Given the description of an element on the screen output the (x, y) to click on. 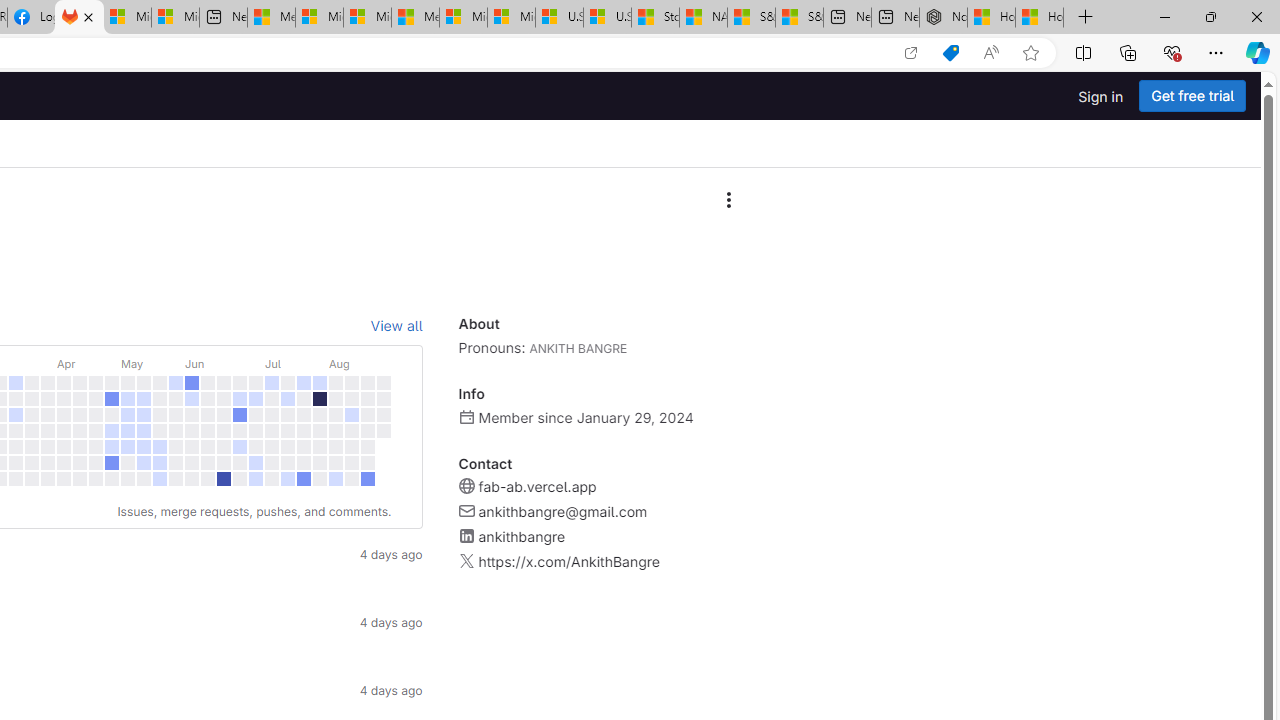
https://x.com/AnkithBangre (568, 561)
